Given the description of an element on the screen output the (x, y) to click on. 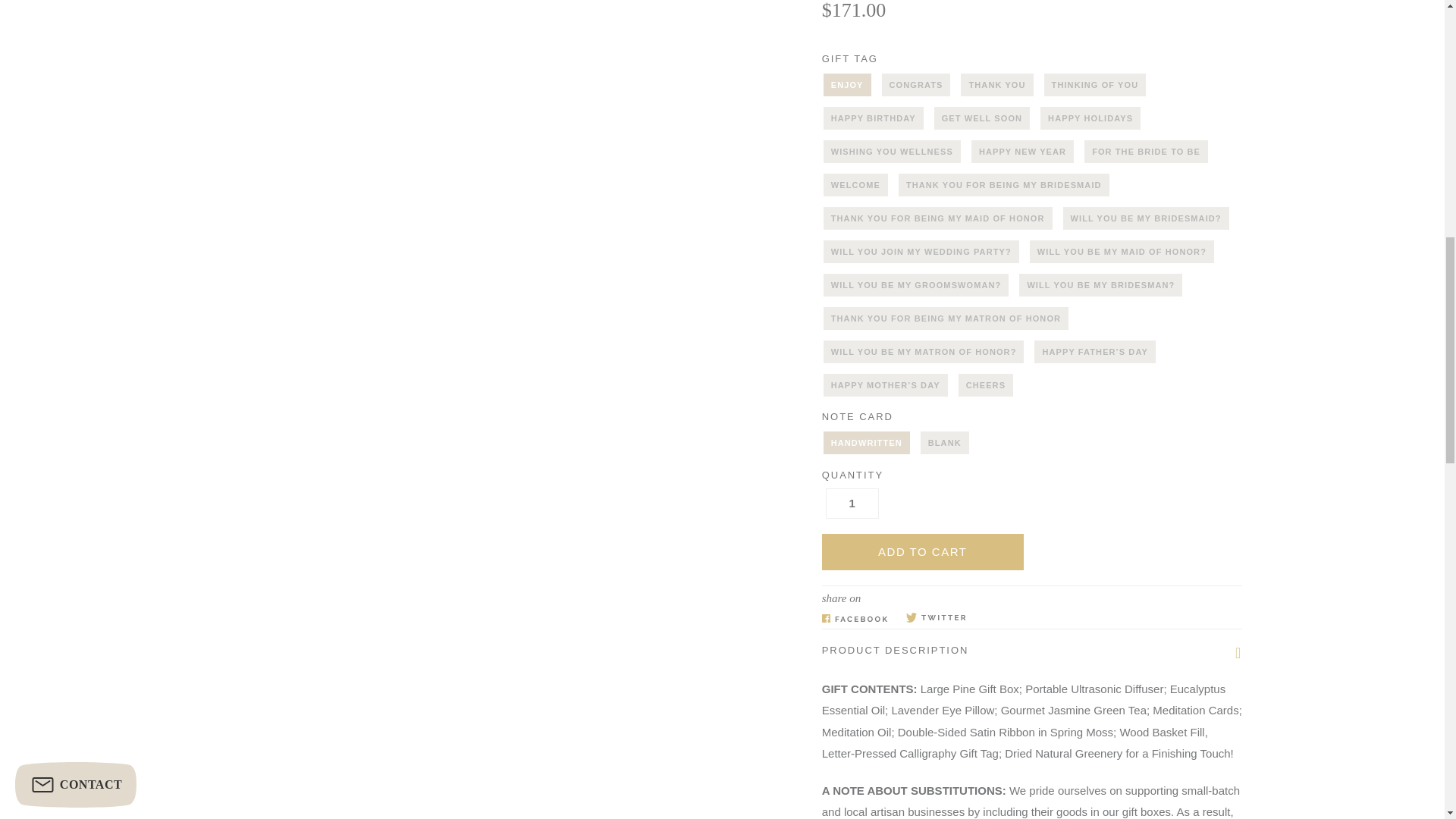
1 (852, 503)
Add to Cart (922, 551)
